Given the description of an element on the screen output the (x, y) to click on. 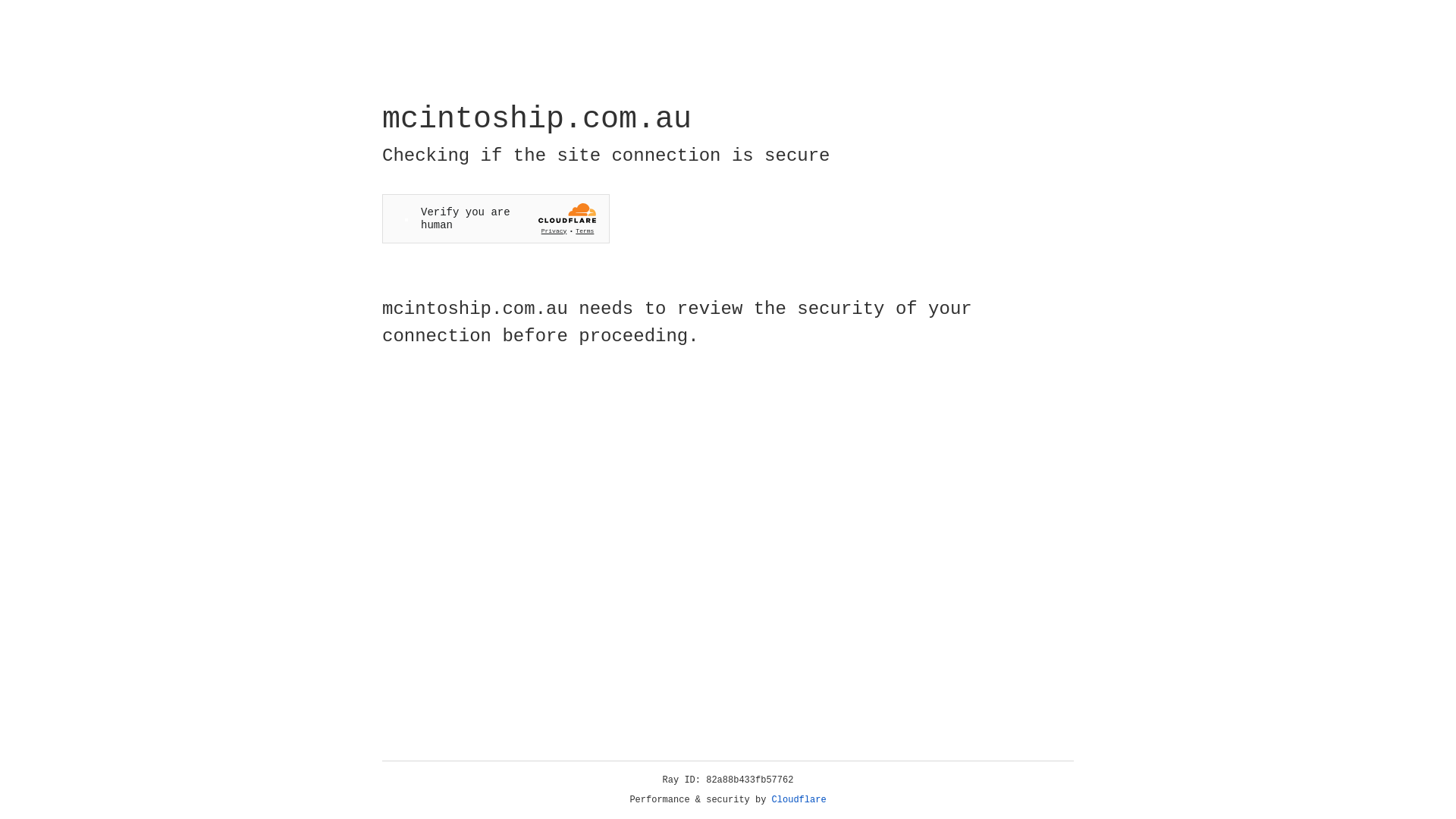
Cloudflare Element type: text (798, 799)
Widget containing a Cloudflare security challenge Element type: hover (495, 218)
